Given the description of an element on the screen output the (x, y) to click on. 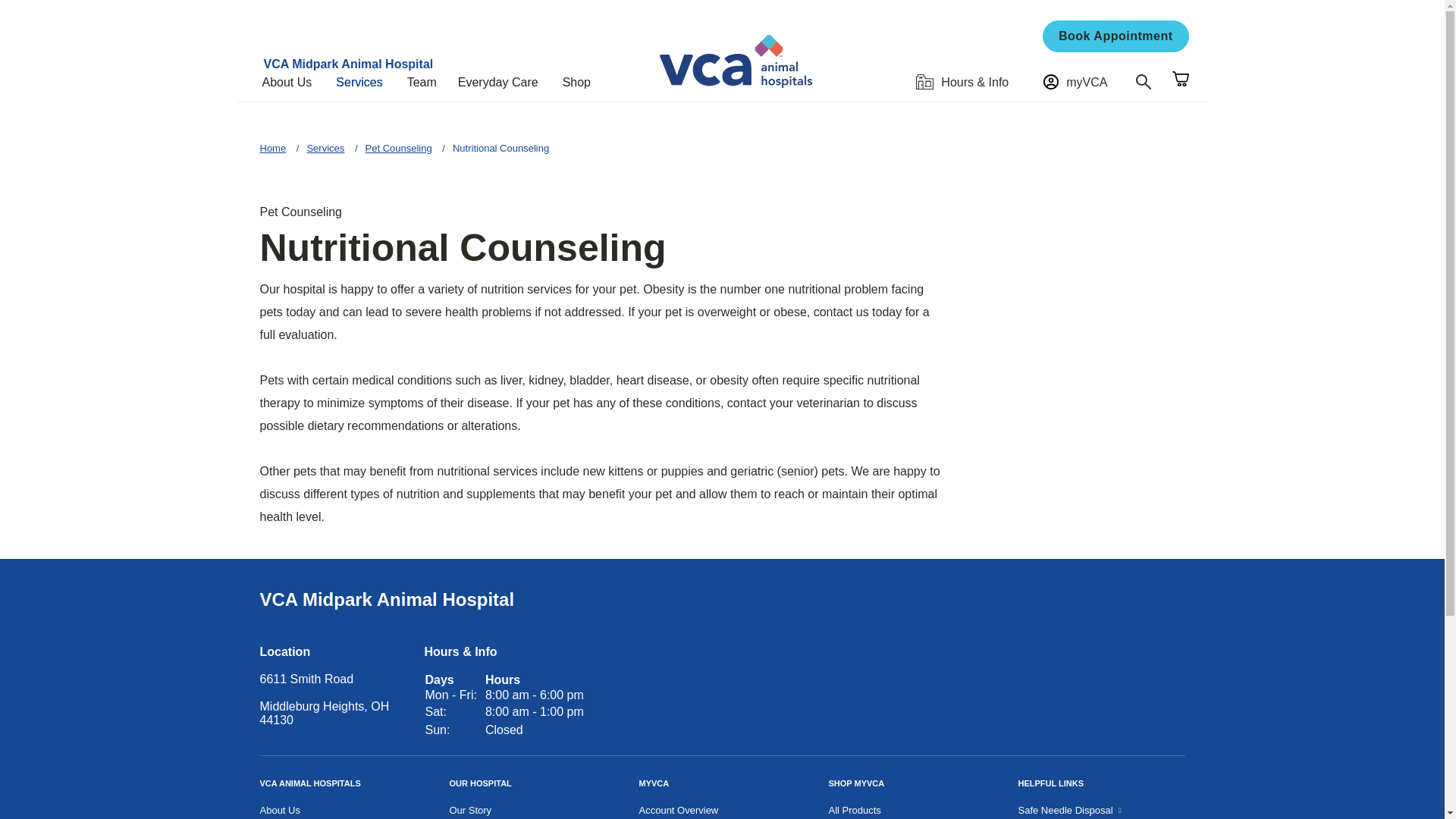
Services (365, 82)
About Us (293, 82)
